Given the description of an element on the screen output the (x, y) to click on. 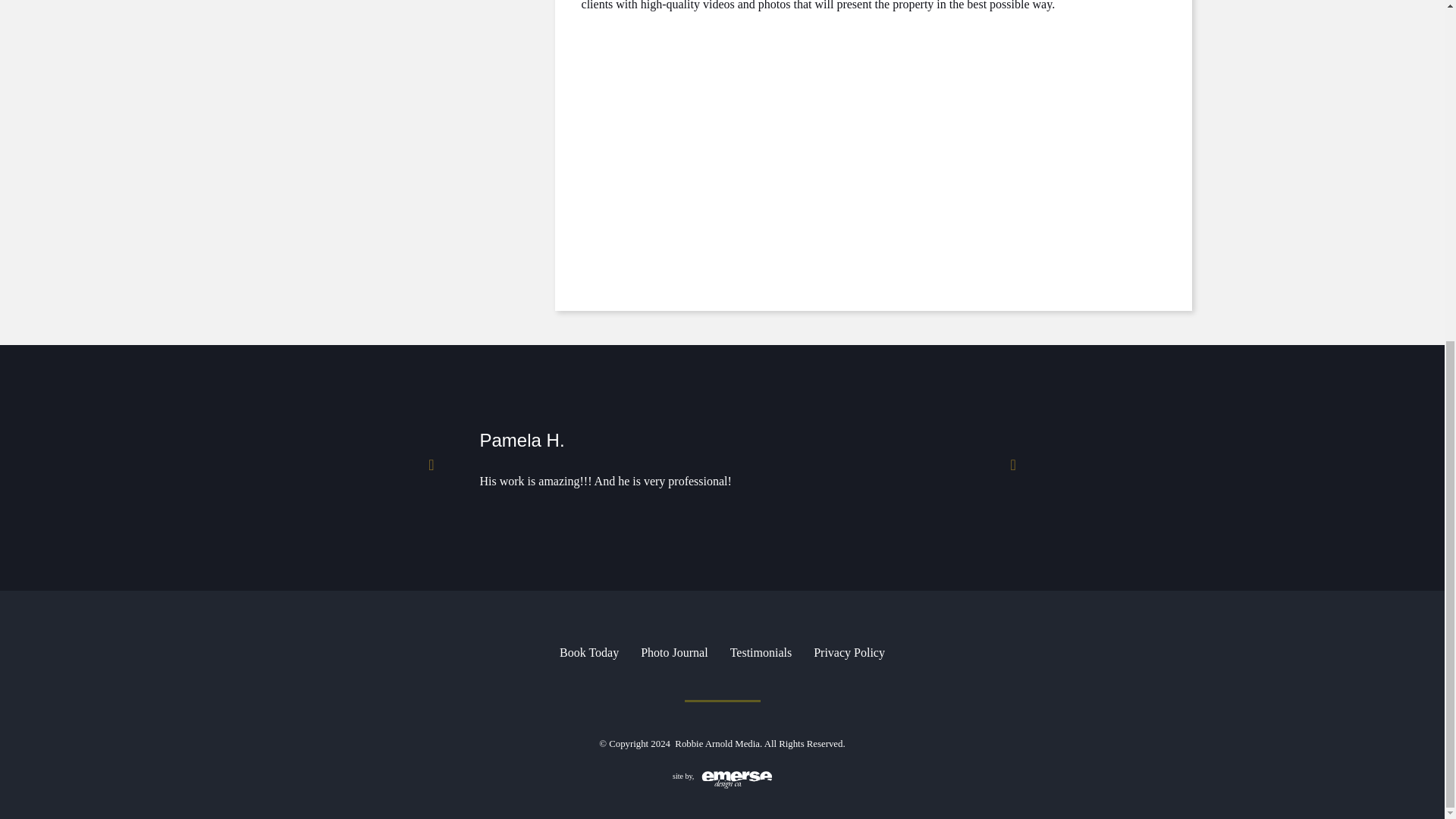
Testimonials (761, 652)
Photo Journal (673, 652)
Book Today (588, 652)
343 W  Ridges BLVD (770, 139)
Pamela H. (521, 439)
site-by-emerse (721, 779)
Pamela H. (521, 439)
Privacy Policy (849, 652)
